Given the description of an element on the screen output the (x, y) to click on. 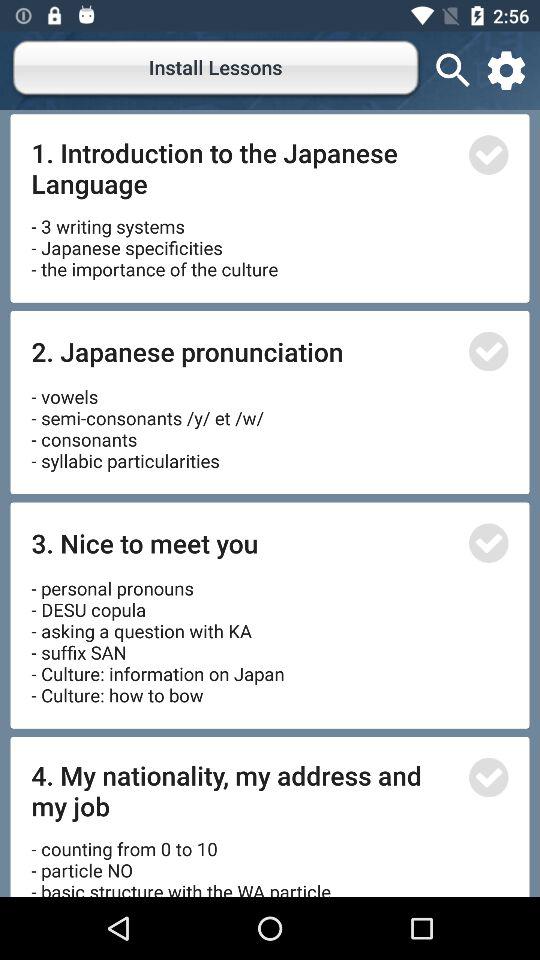
select the icon below 3 nice to icon (160, 634)
